Given the description of an element on the screen output the (x, y) to click on. 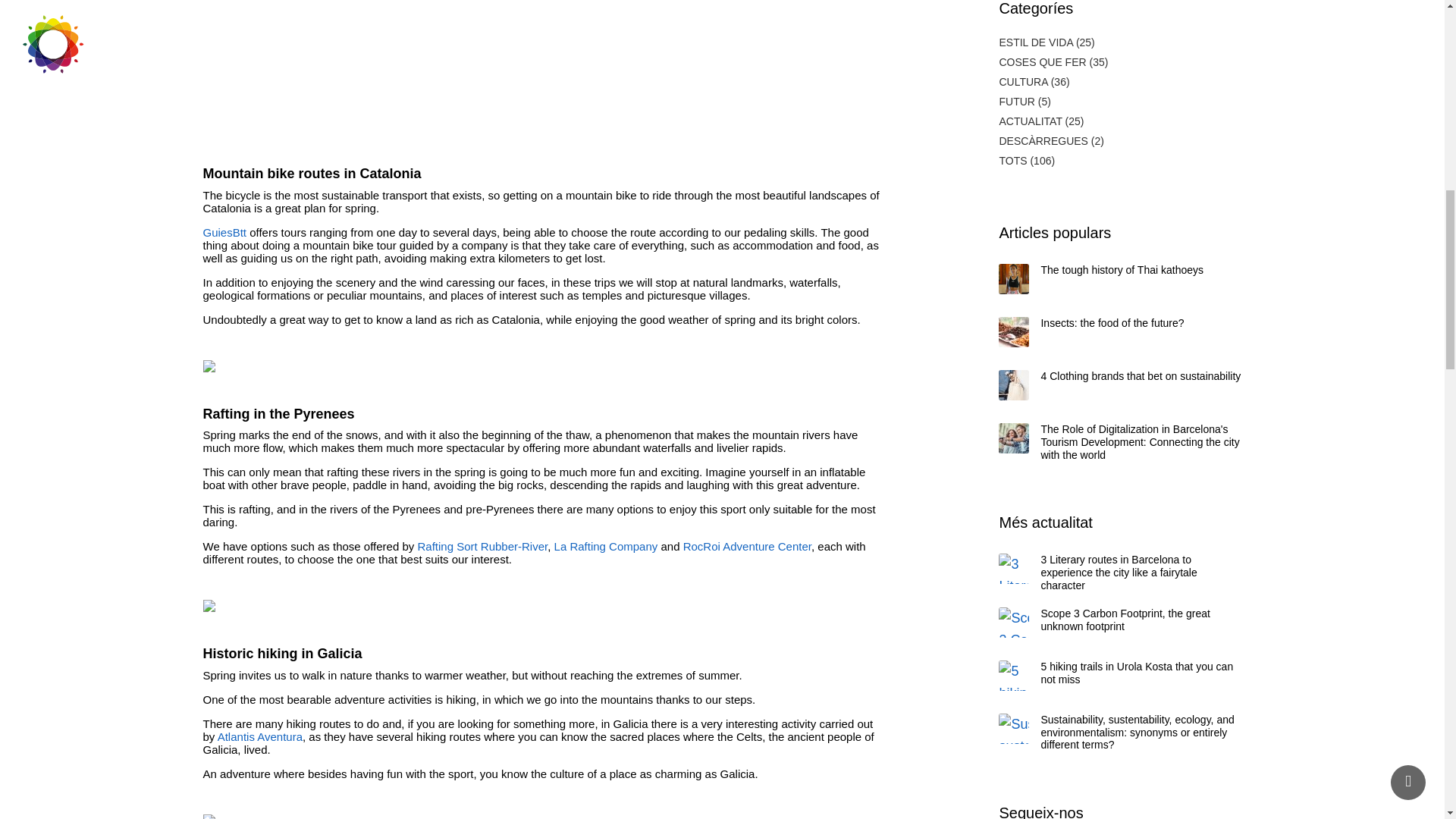
La Rafting Company (606, 545)
Rafting Sort Rubber-River (481, 545)
Atlantis Aventura (259, 736)
RocRoi Adventure Center (746, 545)
GuiesBtt (225, 232)
